Given the description of an element on the screen output the (x, y) to click on. 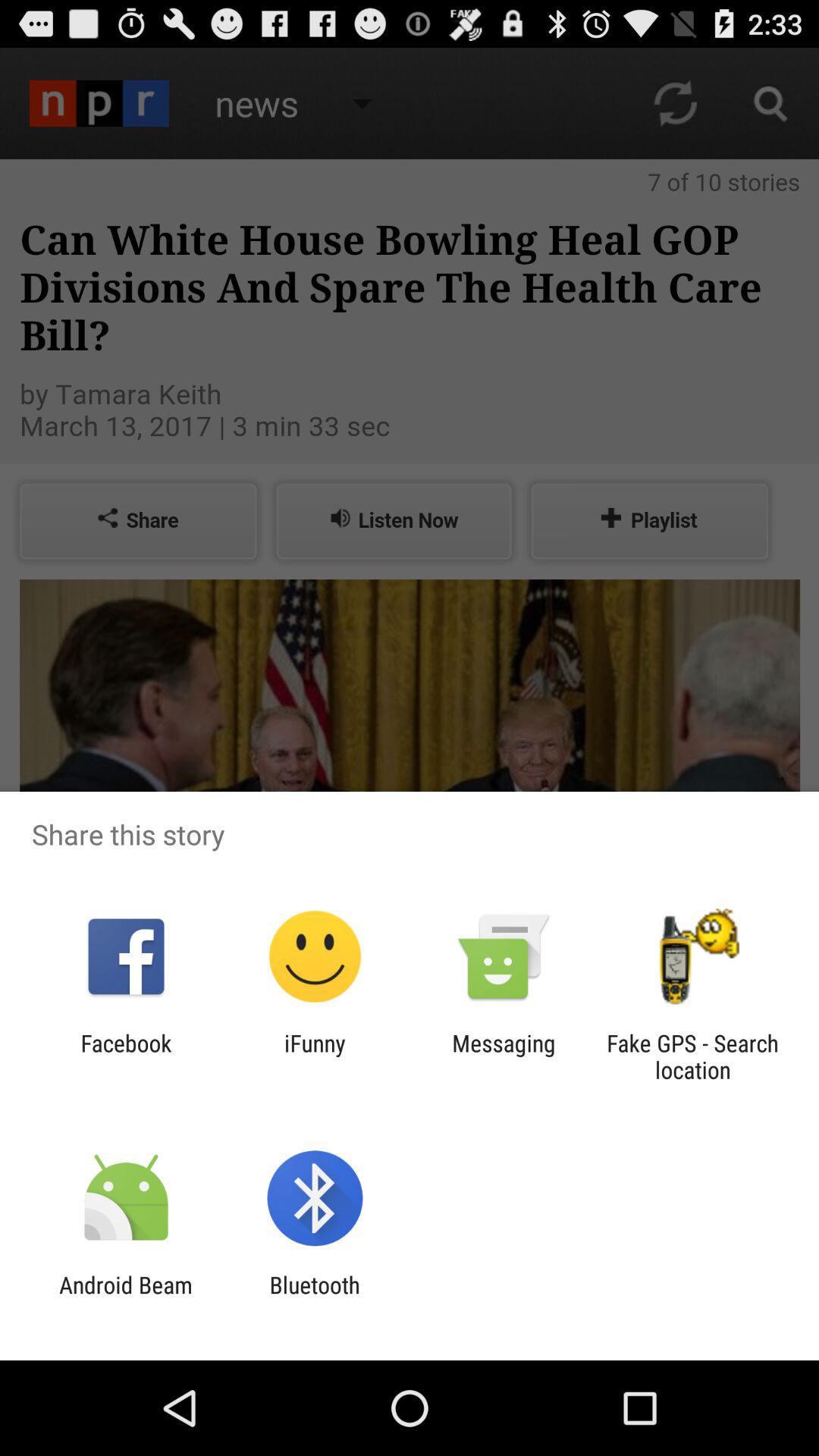
tap item next to bluetooth icon (125, 1298)
